Given the description of an element on the screen output the (x, y) to click on. 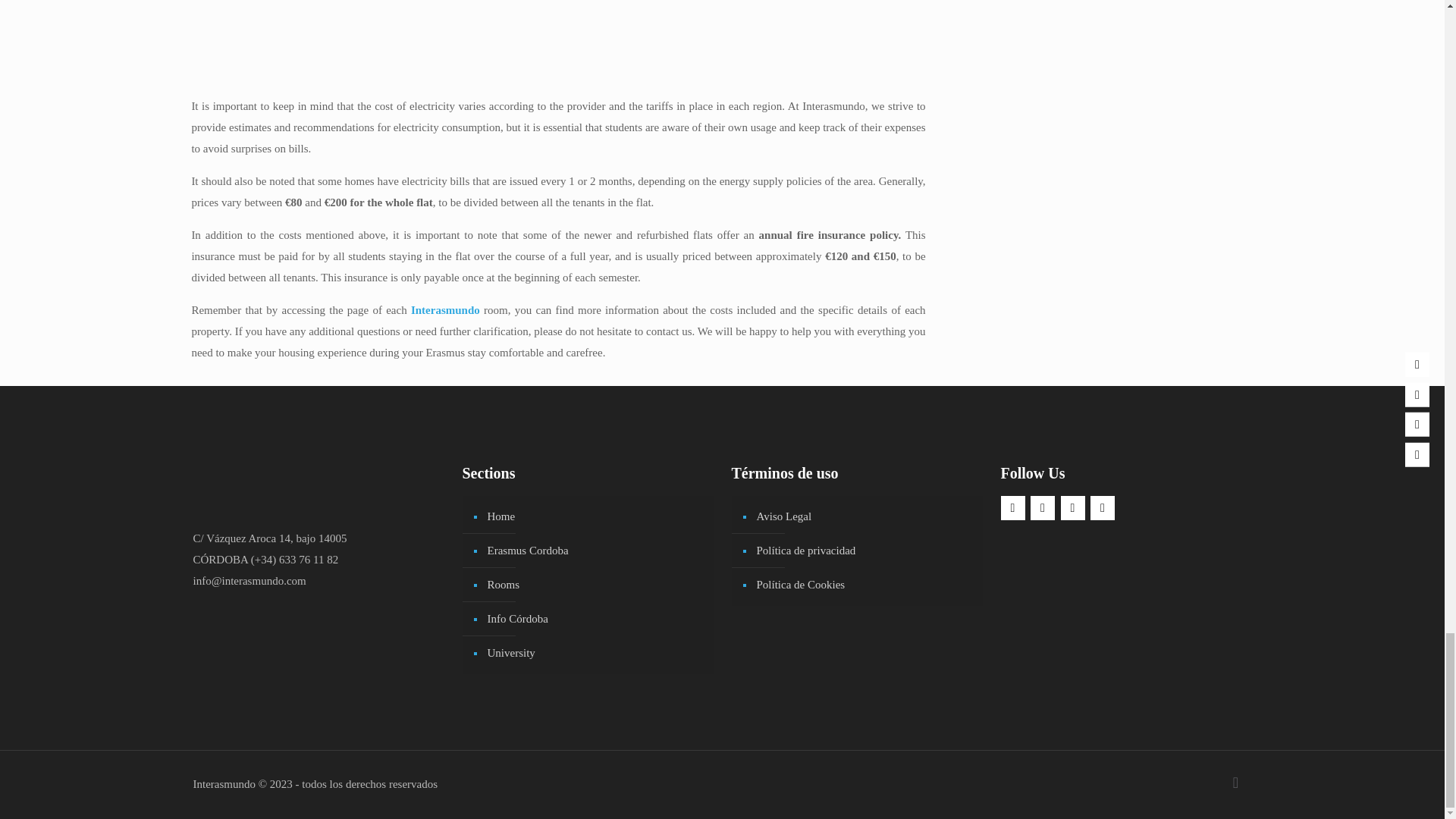
Youtube (1071, 508)
Instagram (1042, 508)
Interasmundo (445, 309)
Facebook (1013, 508)
